Given the description of an element on the screen output the (x, y) to click on. 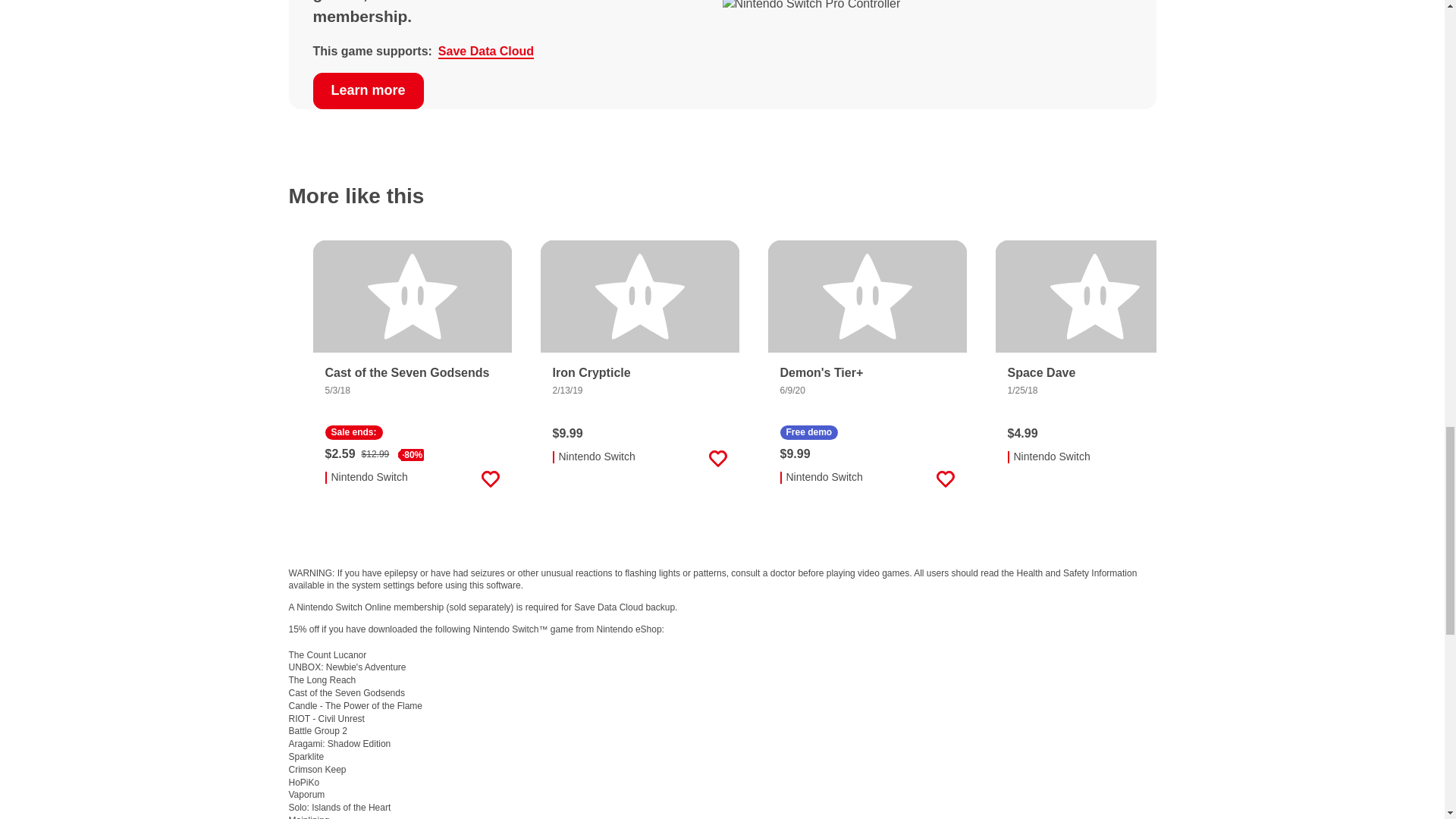
Add to Wish List (716, 458)
Add to Wish List (1172, 458)
Add to Wish List (489, 478)
Add to Wish List (944, 478)
